Given the description of an element on the screen output the (x, y) to click on. 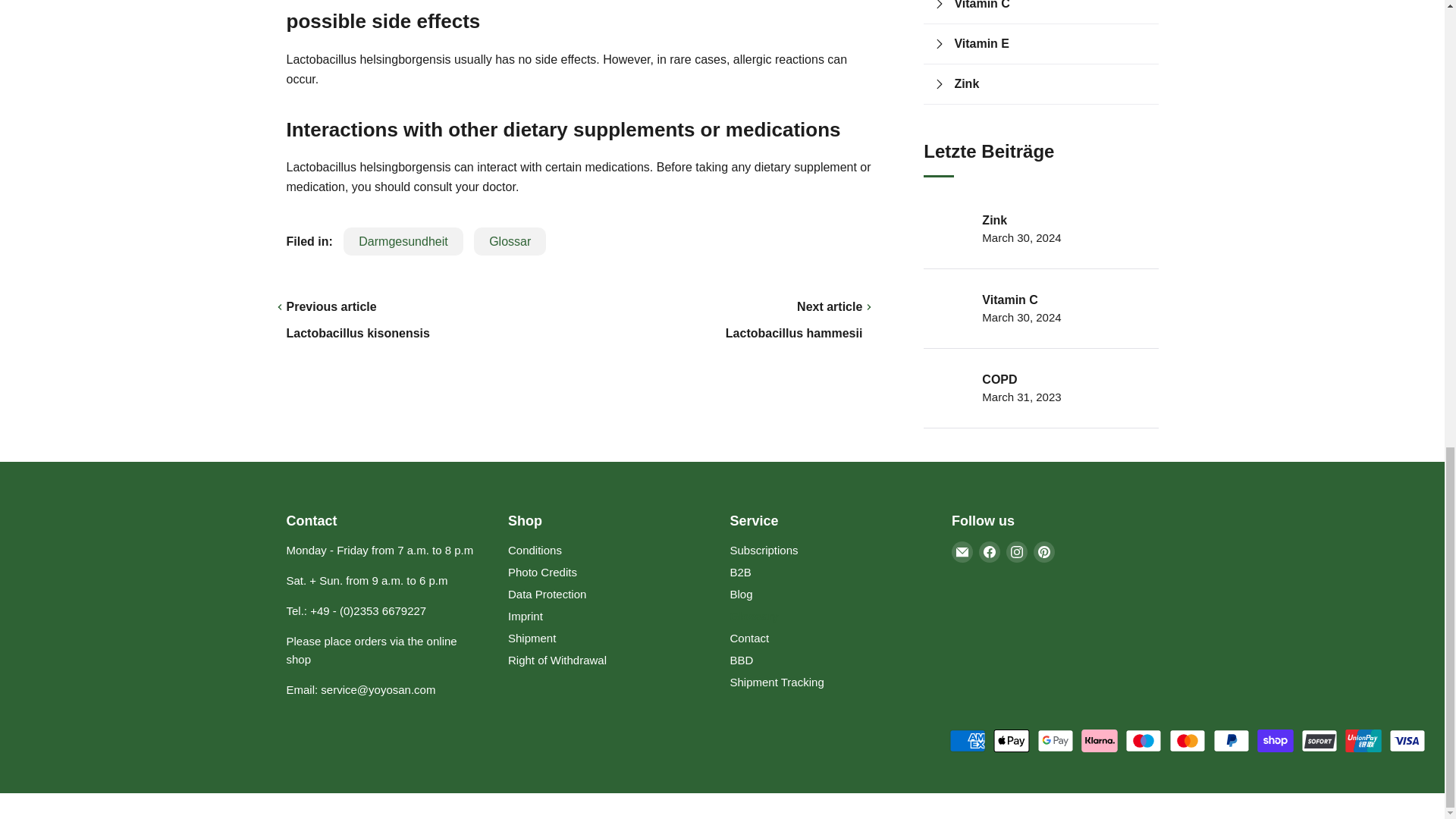
Show articles tagged Vitamin E (1050, 43)
Show articles tagged glossar (510, 241)
Show articles tagged Zink (1050, 84)
Show articles tagged Vitamin C (1050, 7)
To the shop (371, 649)
Show articles tagged darmgesundheit (403, 241)
